Given the description of an element on the screen output the (x, y) to click on. 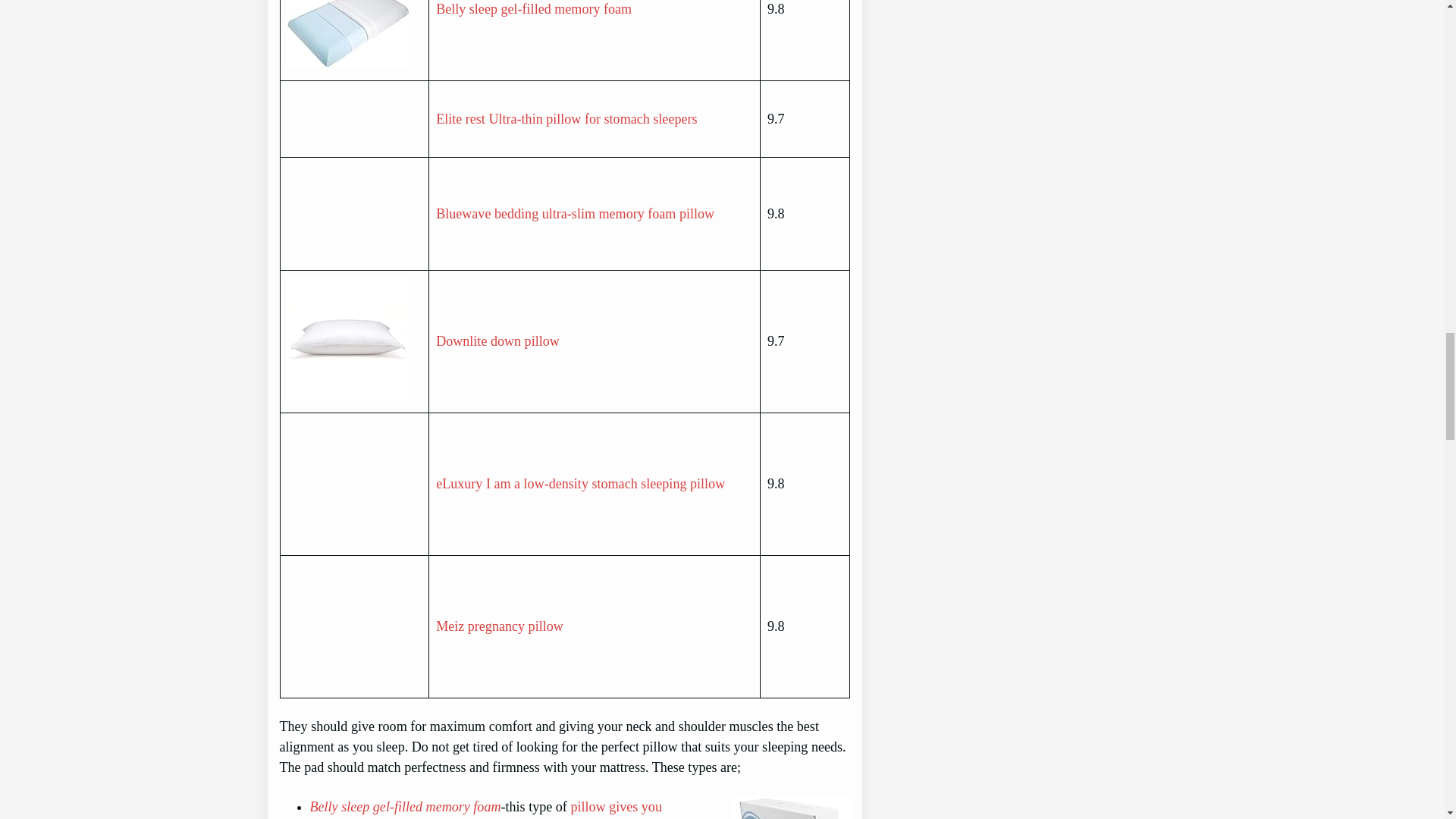
Meiz pregnancy pillow (499, 626)
Elite rest Ultra-thin pillow for stomach sleepers (566, 118)
Belly sleep gel-filled memory foam (533, 8)
Bluewave bedding ultra-slim memory foam pillow (574, 213)
Belly sleep gel-filled memory foam (404, 806)
Downlite down pillow (497, 340)
pillow gives you ultimate comfort (484, 809)
eLuxury I am a low-density stomach sleeping pillow (580, 483)
